Given the description of an element on the screen output the (x, y) to click on. 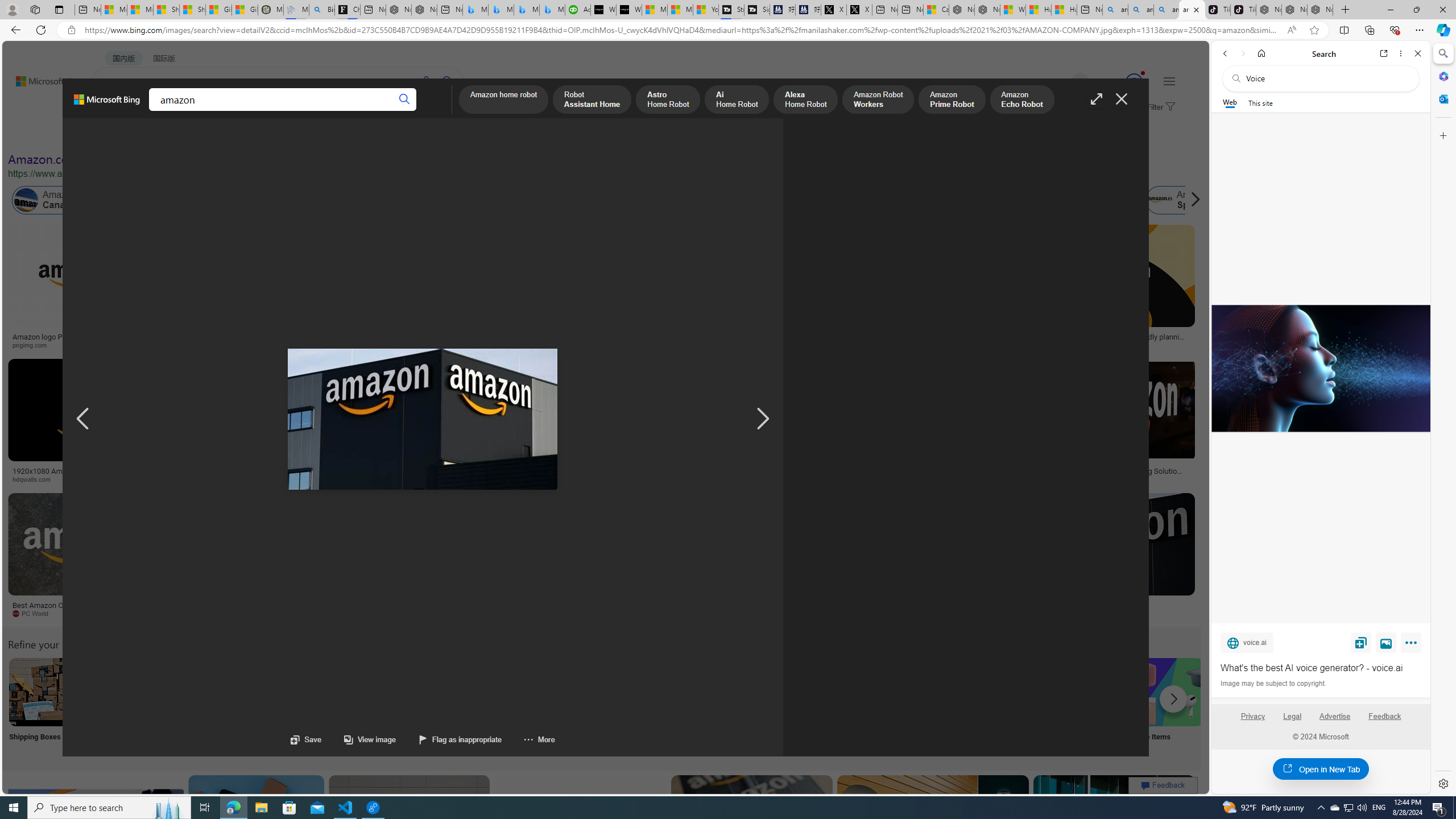
Amazon Retail Store Retail Store (493, 706)
Amazon Online Store Online Store (644, 706)
manilashaker.com (722, 613)
Sign My Account (718, 706)
Streaming Coverage | T3 (730, 9)
Workspaces (34, 9)
Alexa Home Robot (805, 100)
Amazon Wish List Wish List (568, 706)
amazon - Search Images (1191, 9)
Layout (253, 135)
Kindle Paperwhite Case (673, 298)
